Given the description of an element on the screen output the (x, y) to click on. 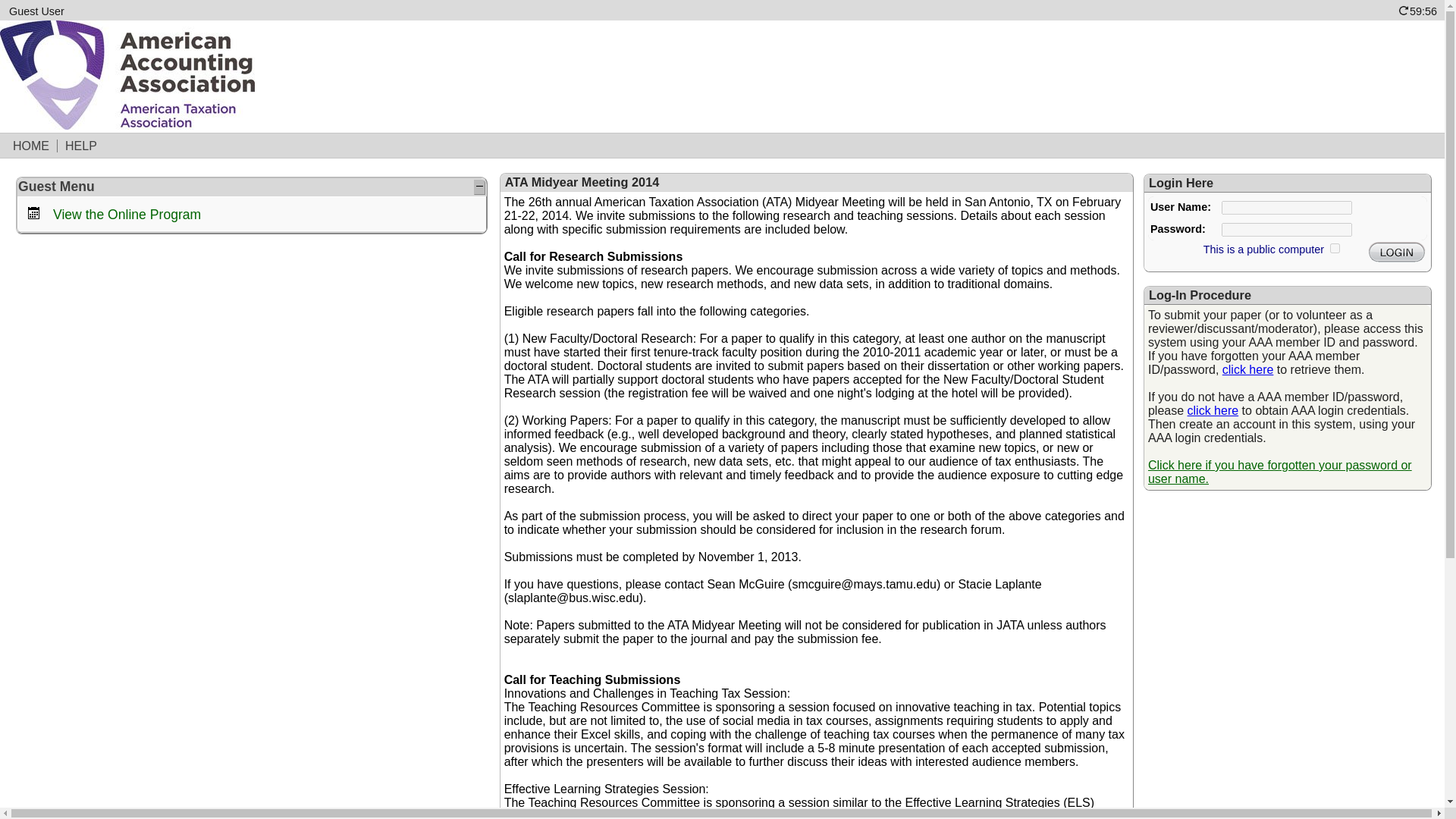
click here (1248, 369)
click here (1213, 410)
HOME (31, 145)
View the Online Program (126, 214)
Click here if you have forgotten your password or user name. (1280, 471)
t (1334, 248)
Submit (1396, 251)
HELP (81, 145)
